Given the description of an element on the screen output the (x, y) to click on. 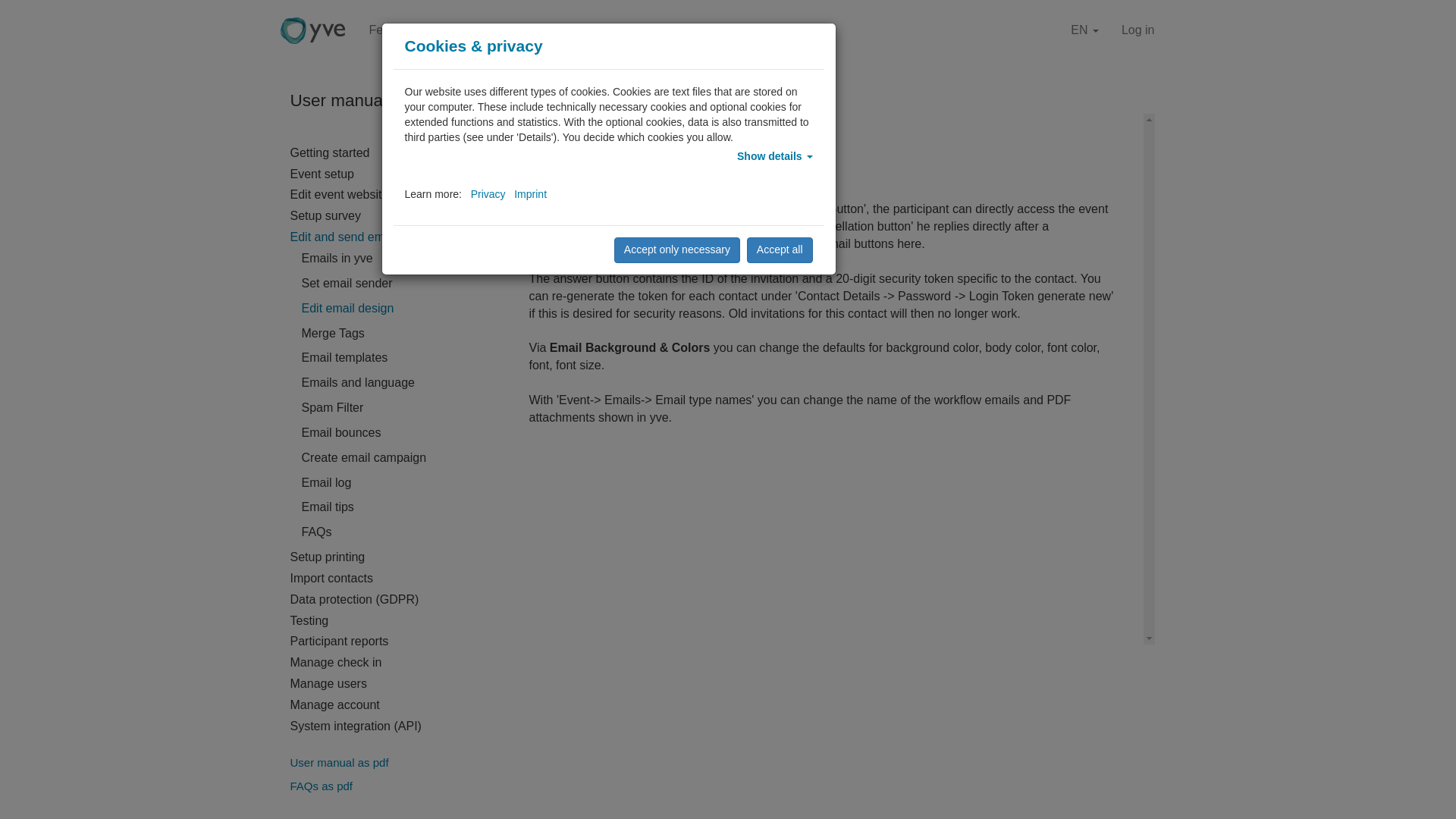
Features (393, 30)
EN (1084, 30)
Help (576, 31)
Show details  (774, 155)
search (643, 100)
Contact (520, 30)
Log in (1137, 30)
Accept all (779, 249)
Imprint (530, 193)
Privacy (487, 193)
